Given the description of an element on the screen output the (x, y) to click on. 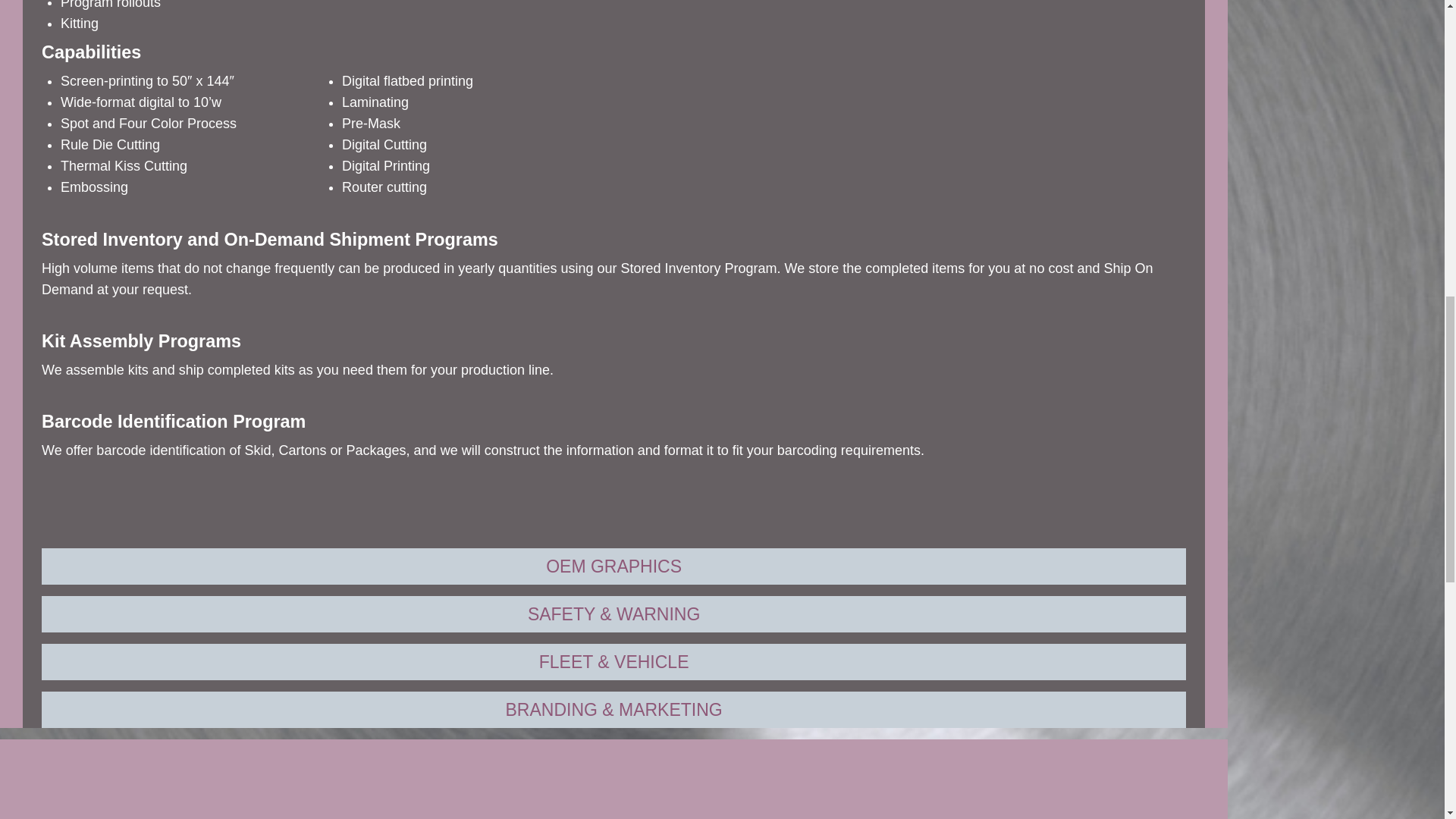
OEM GRAPHICS (614, 565)
